Given the description of an element on the screen output the (x, y) to click on. 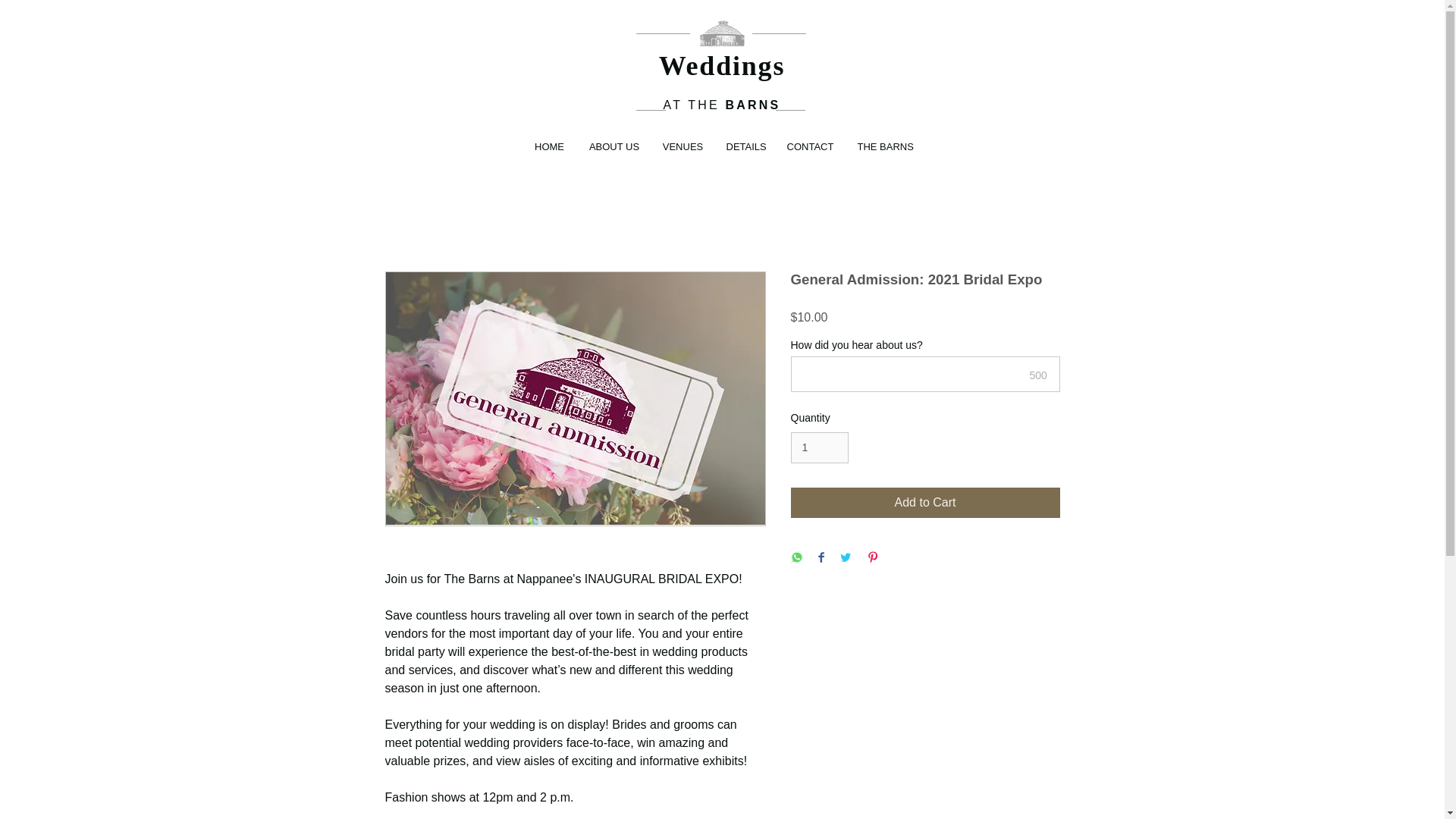
VENUES (682, 146)
Add to Cart (924, 502)
1 (818, 447)
DETAILS (744, 146)
CONTACT (809, 146)
THE BARNS (884, 146)
HOME (549, 146)
ABOUT US (614, 146)
